Given the description of an element on the screen output the (x, y) to click on. 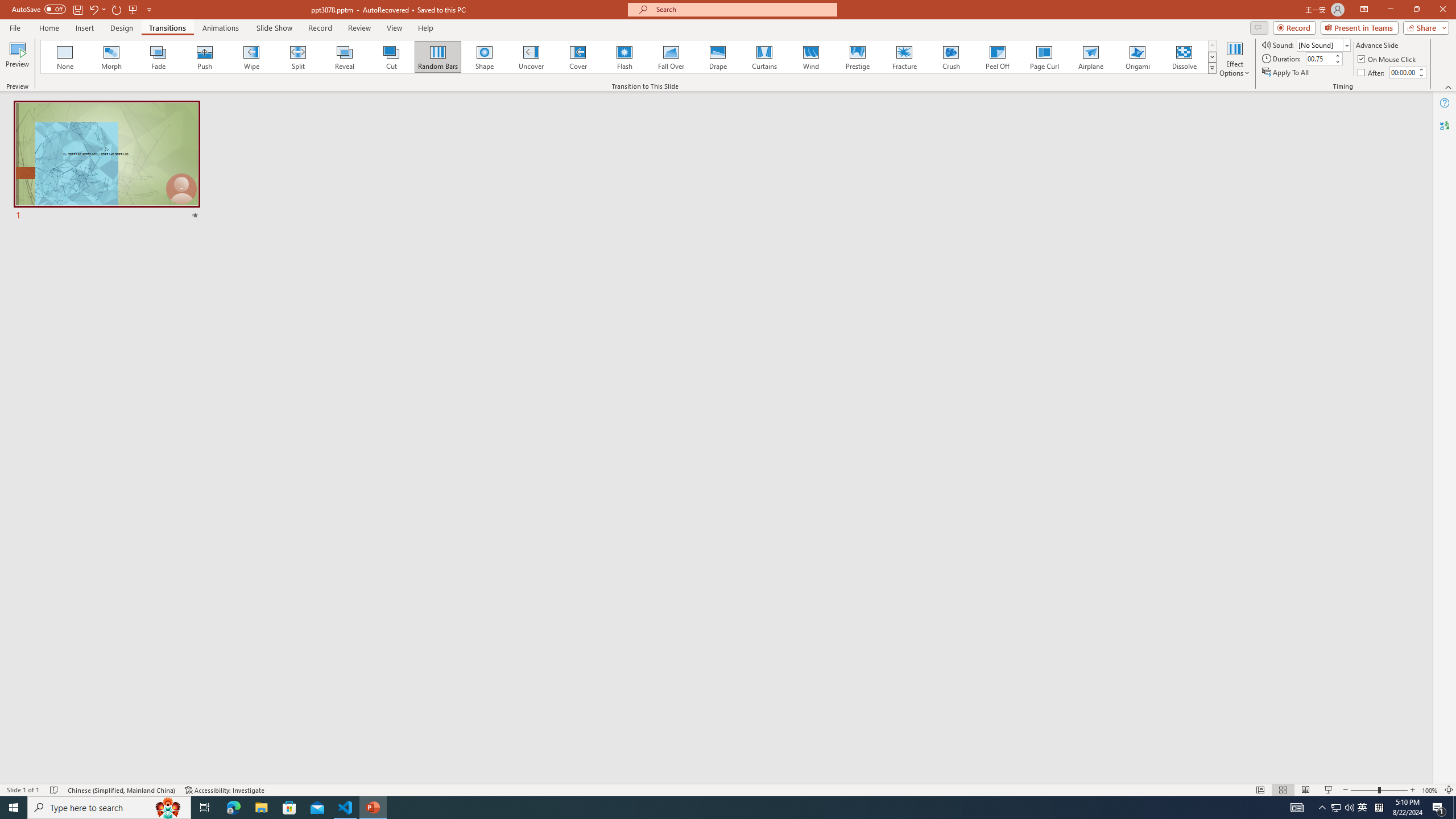
Origami (1136, 56)
Flash (624, 56)
Cover (577, 56)
